Given the description of an element on the screen output the (x, y) to click on. 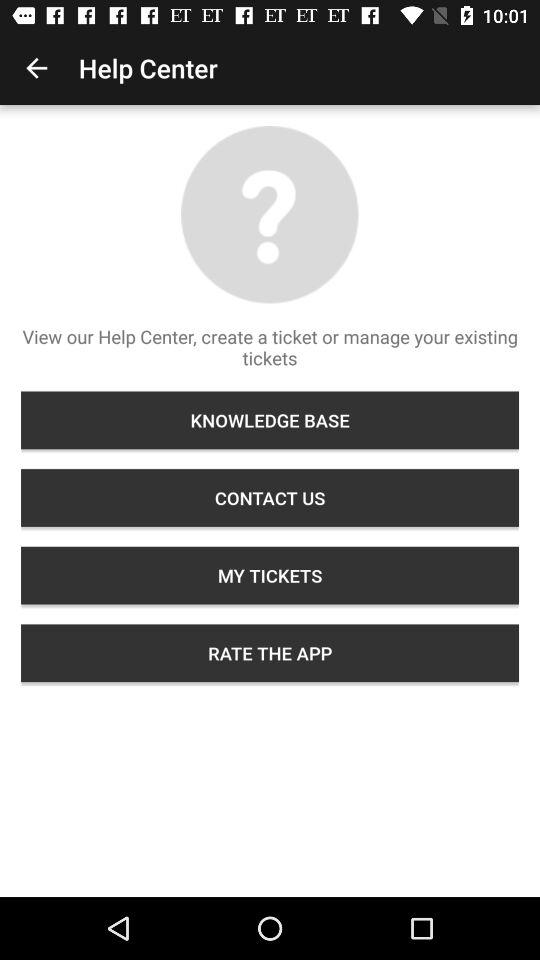
swipe until my tickets (270, 575)
